Given the description of an element on the screen output the (x, y) to click on. 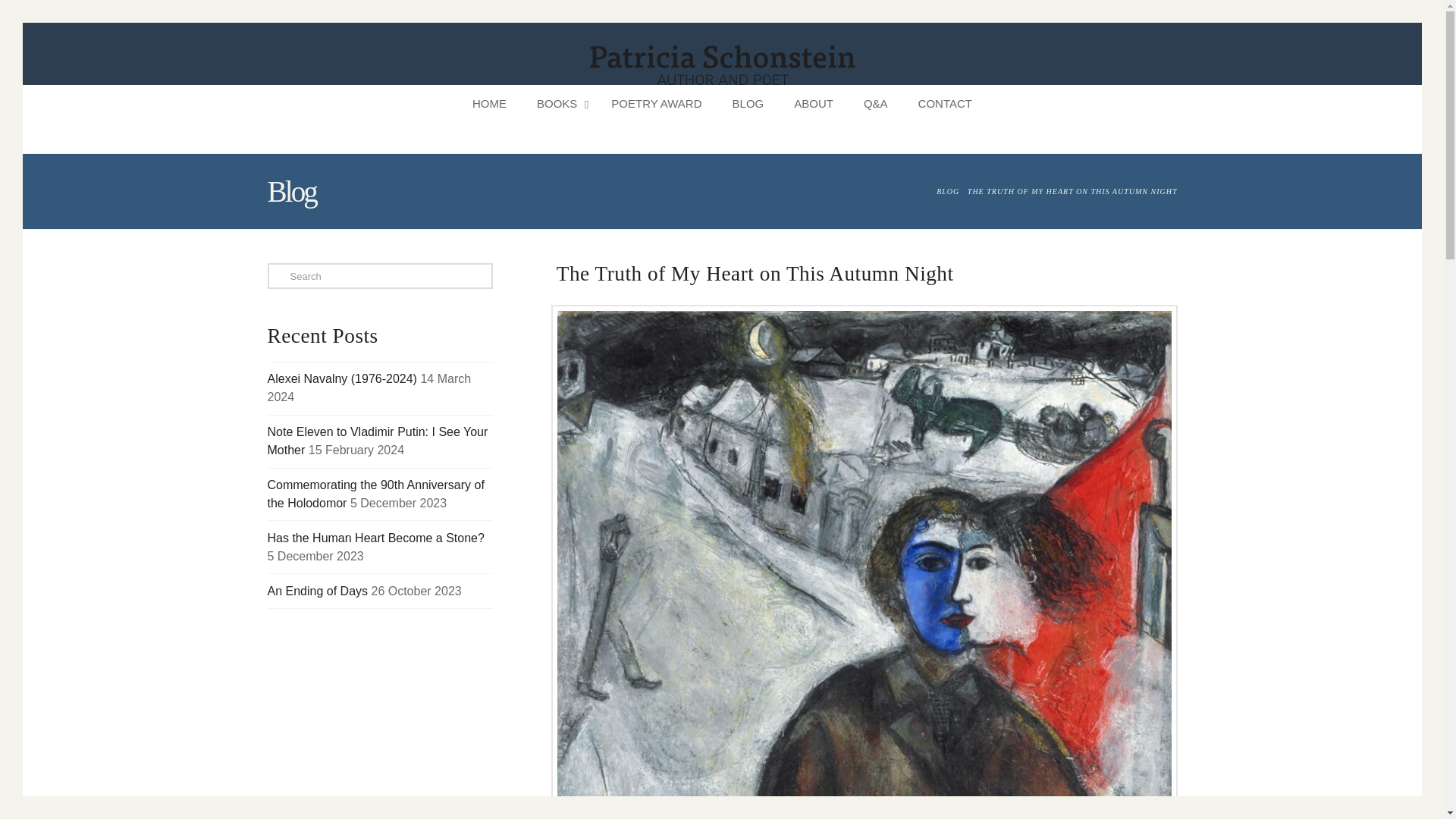
POETRY AWARD (655, 103)
CONTACT (944, 103)
BLOG (747, 103)
ABOUT (813, 103)
BOOKS (558, 103)
You Are Here (1072, 191)
HOME (489, 103)
